Given the description of an element on the screen output the (x, y) to click on. 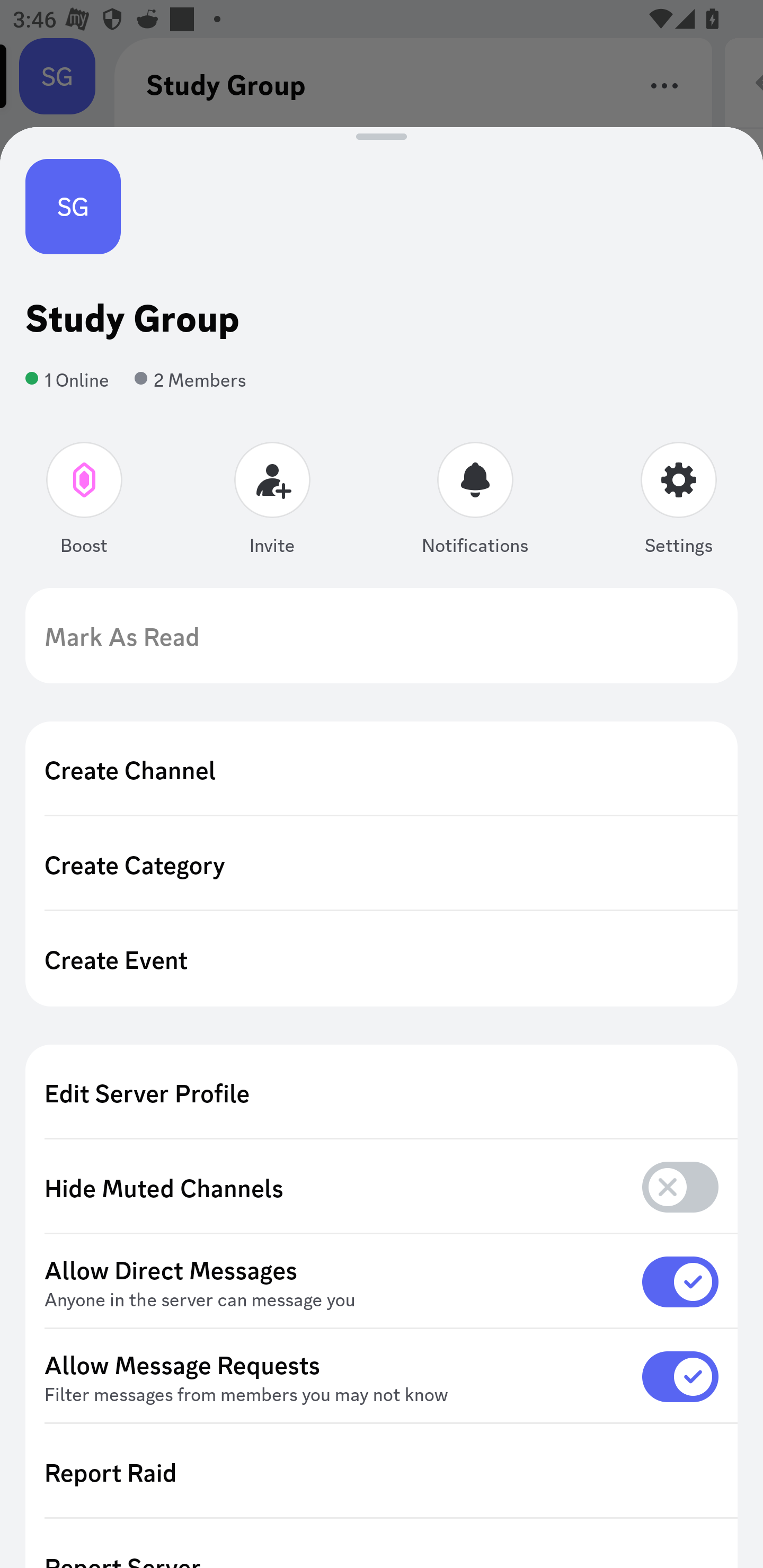
Boost (84, 502)
Invite (272, 502)
Notifications (475, 502)
Settings (678, 502)
Mark As Read (381, 635)
Create Channel (381, 768)
Create Category (381, 863)
Create Event (381, 958)
Edit Server Profile (381, 1091)
off Hide Muted Channels,  Hide Muted Channels off (381, 1187)
off (680, 1186)
on (680, 1281)
on (680, 1376)
Report Raid (381, 1471)
